Given the description of an element on the screen output the (x, y) to click on. 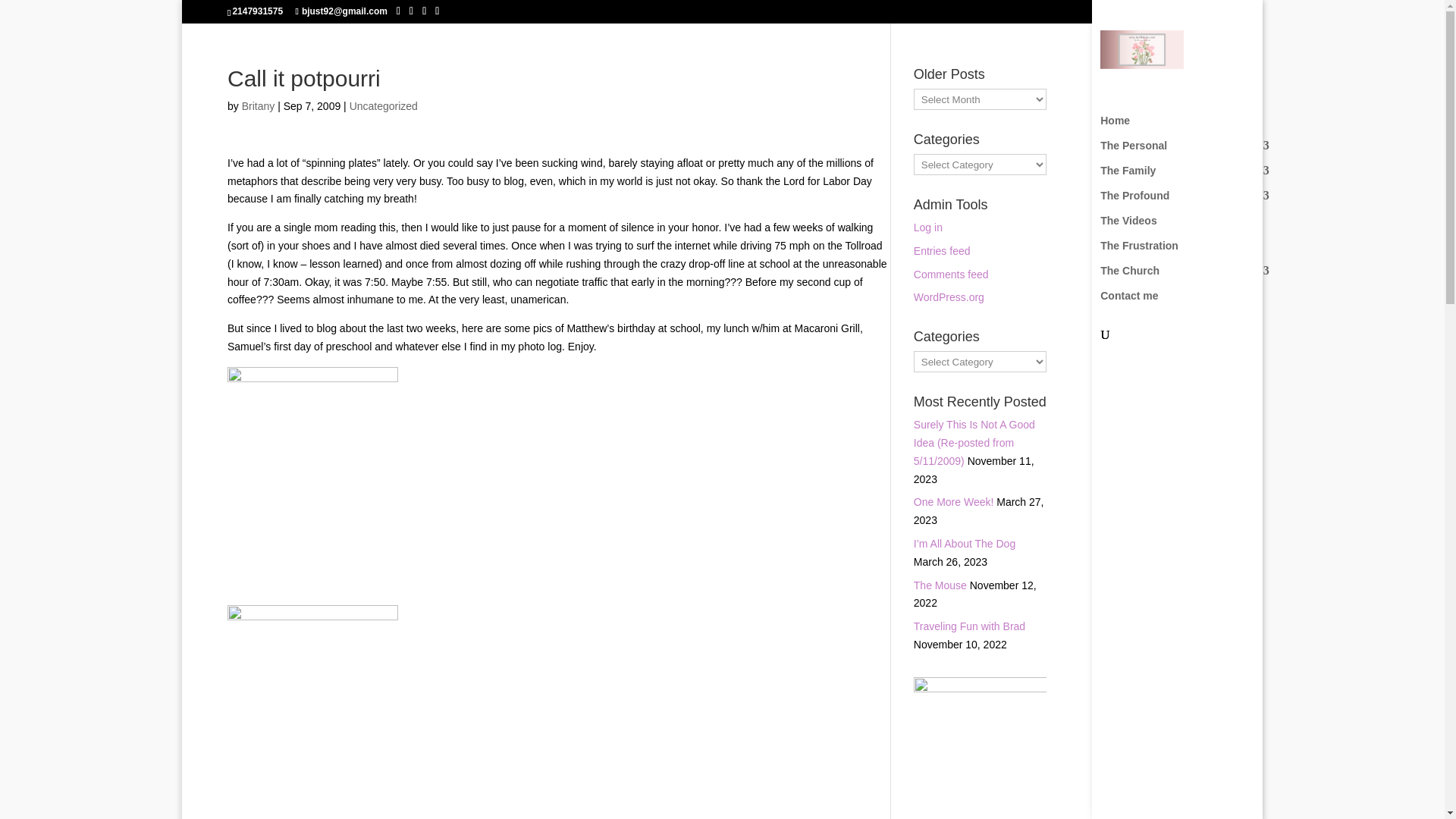
The Profound (1192, 202)
Posts by Britany (258, 105)
Home (1192, 127)
The Personal (1192, 152)
The Family (1192, 177)
